Given the description of an element on the screen output the (x, y) to click on. 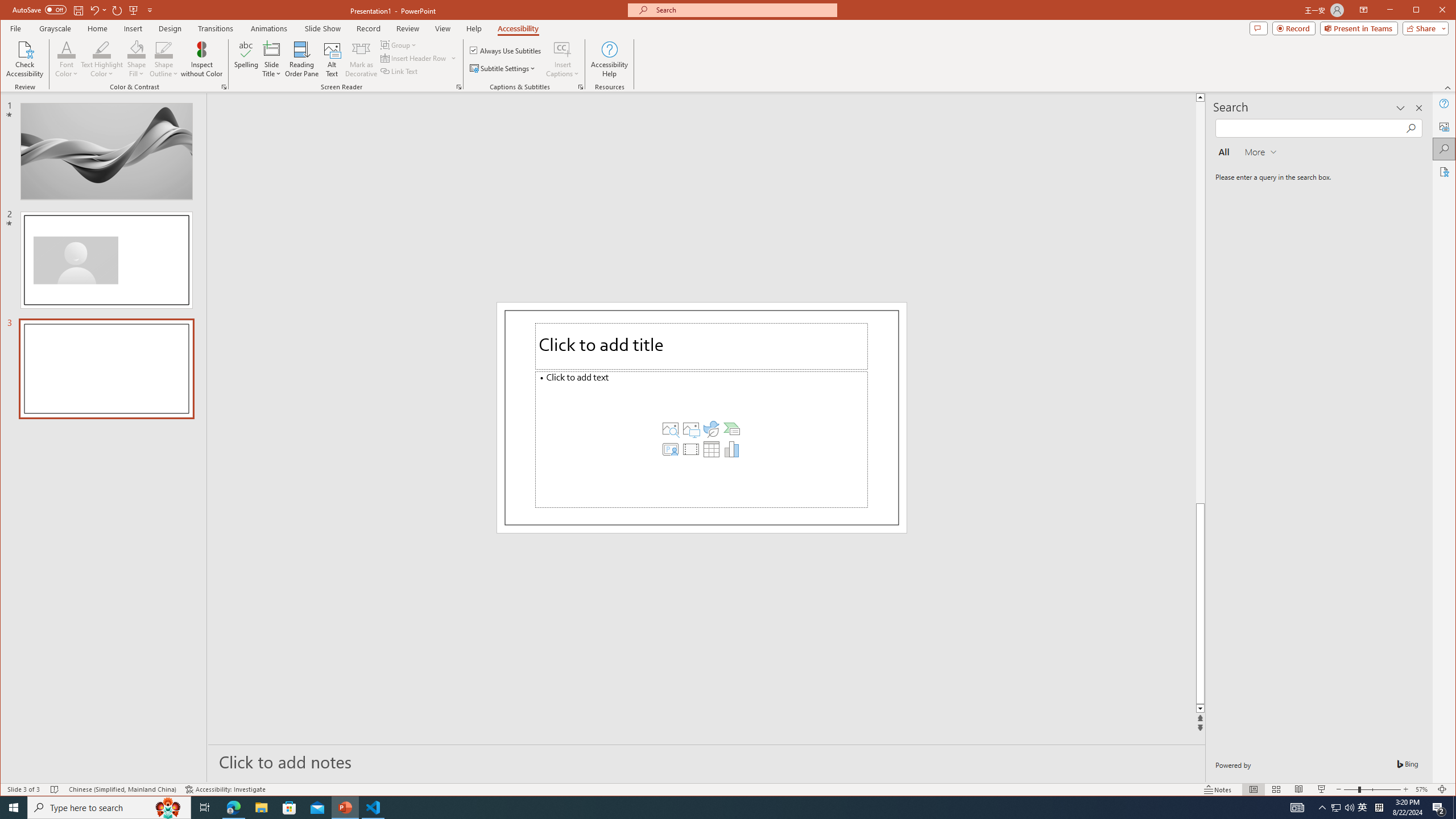
Accessibility Help (608, 59)
Inspect without Color (201, 59)
